Given the description of an element on the screen output the (x, y) to click on. 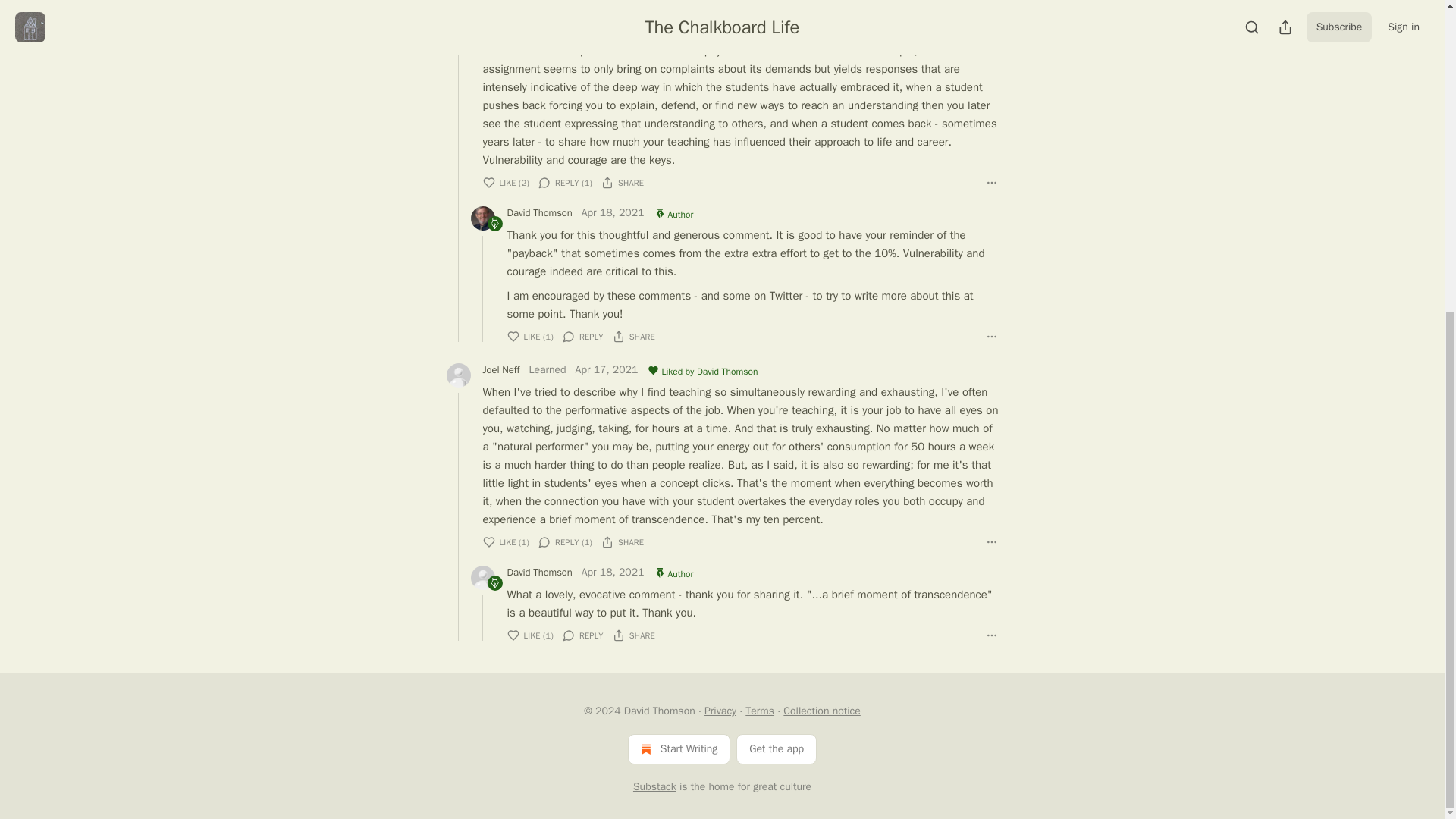
SHARE (622, 182)
REPLY (583, 336)
Apr 18, 2021 (612, 213)
David Thomson (539, 212)
